Given the description of an element on the screen output the (x, y) to click on. 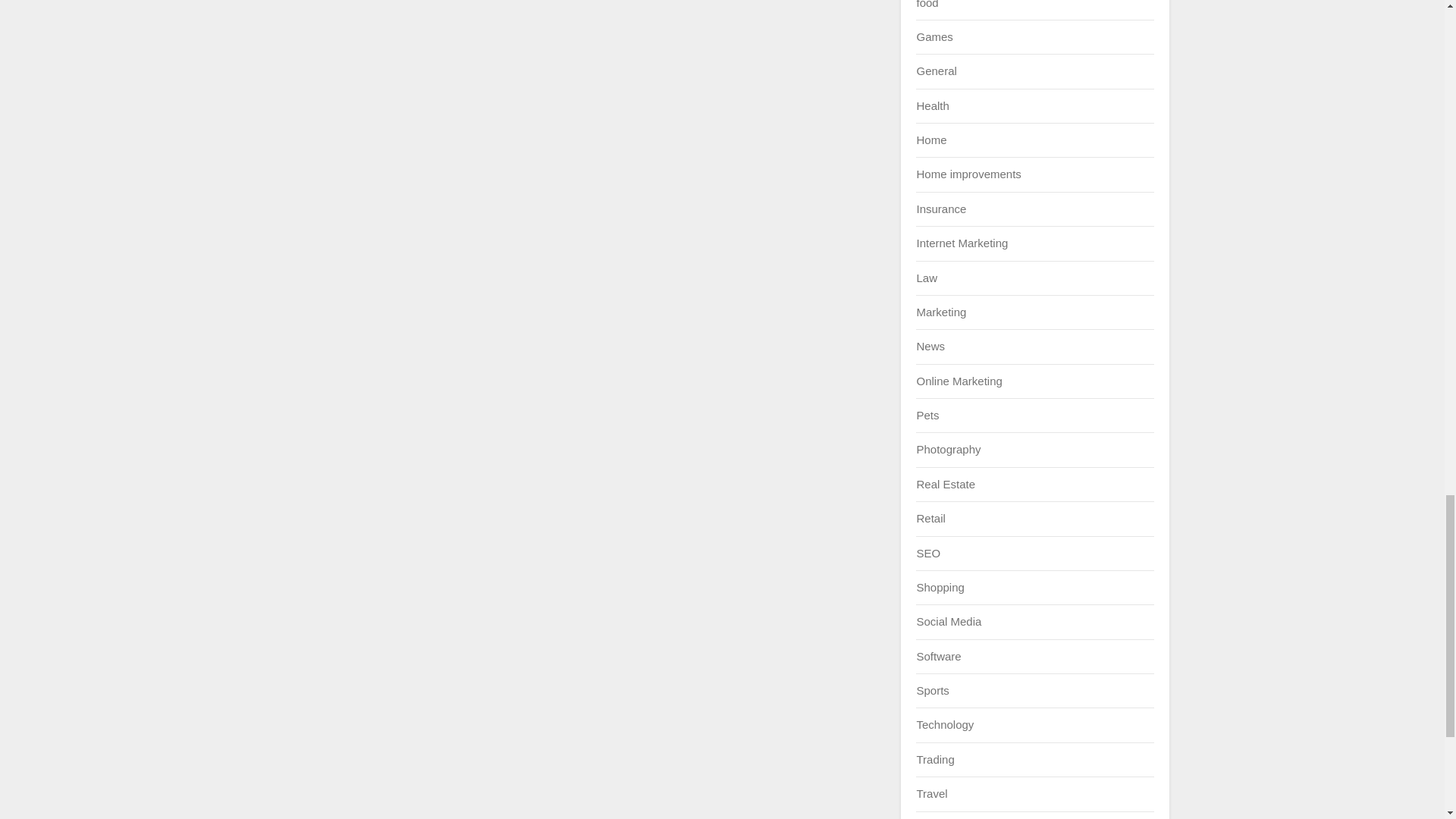
food (926, 4)
General (935, 70)
Health (932, 105)
Home improvements (967, 173)
Home (930, 139)
Games (933, 36)
